Given the description of an element on the screen output the (x, y) to click on. 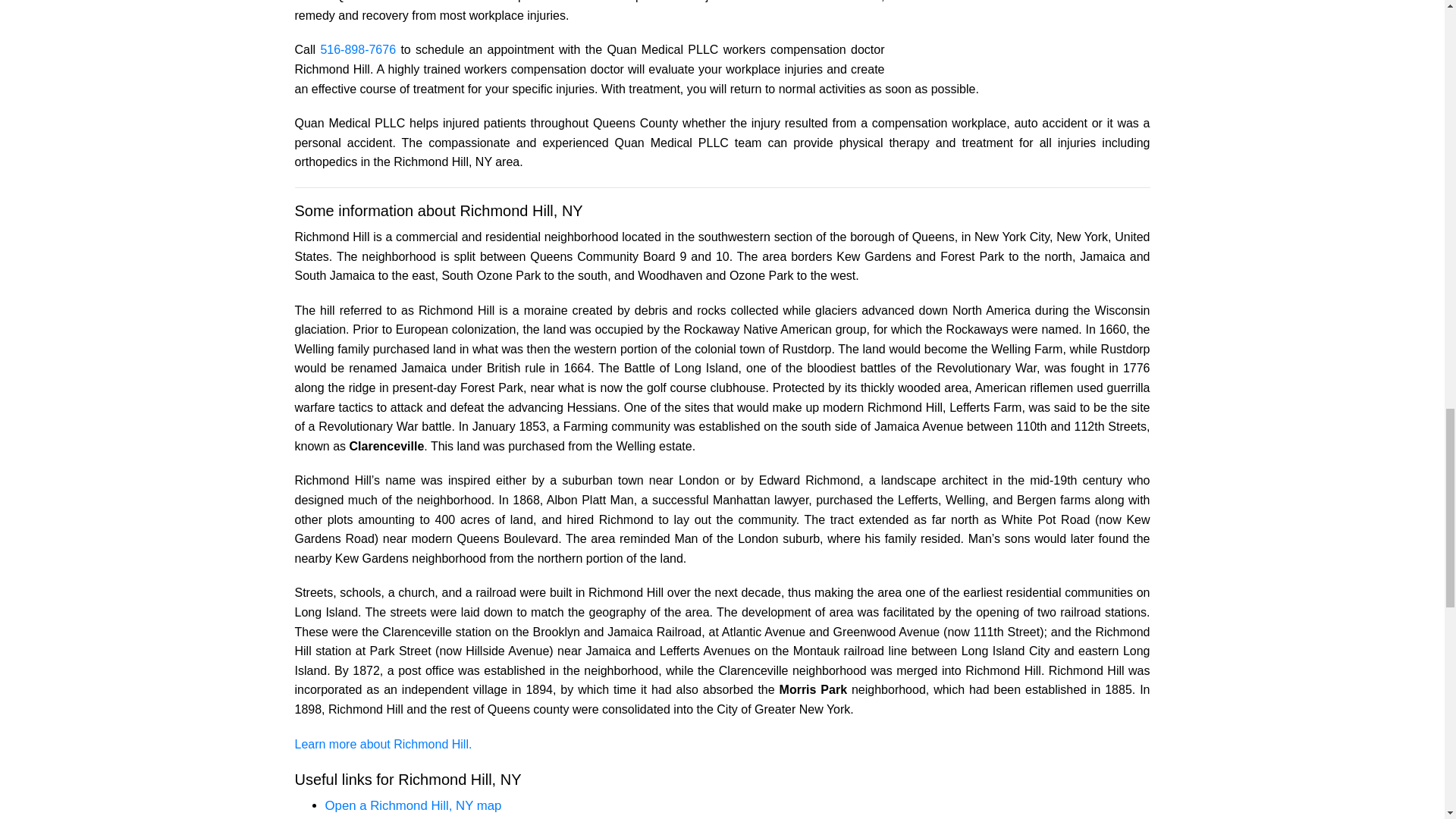
Comp Doctors Near Me in Albertson, NY (1016, 32)
